Given the description of an element on the screen output the (x, y) to click on. 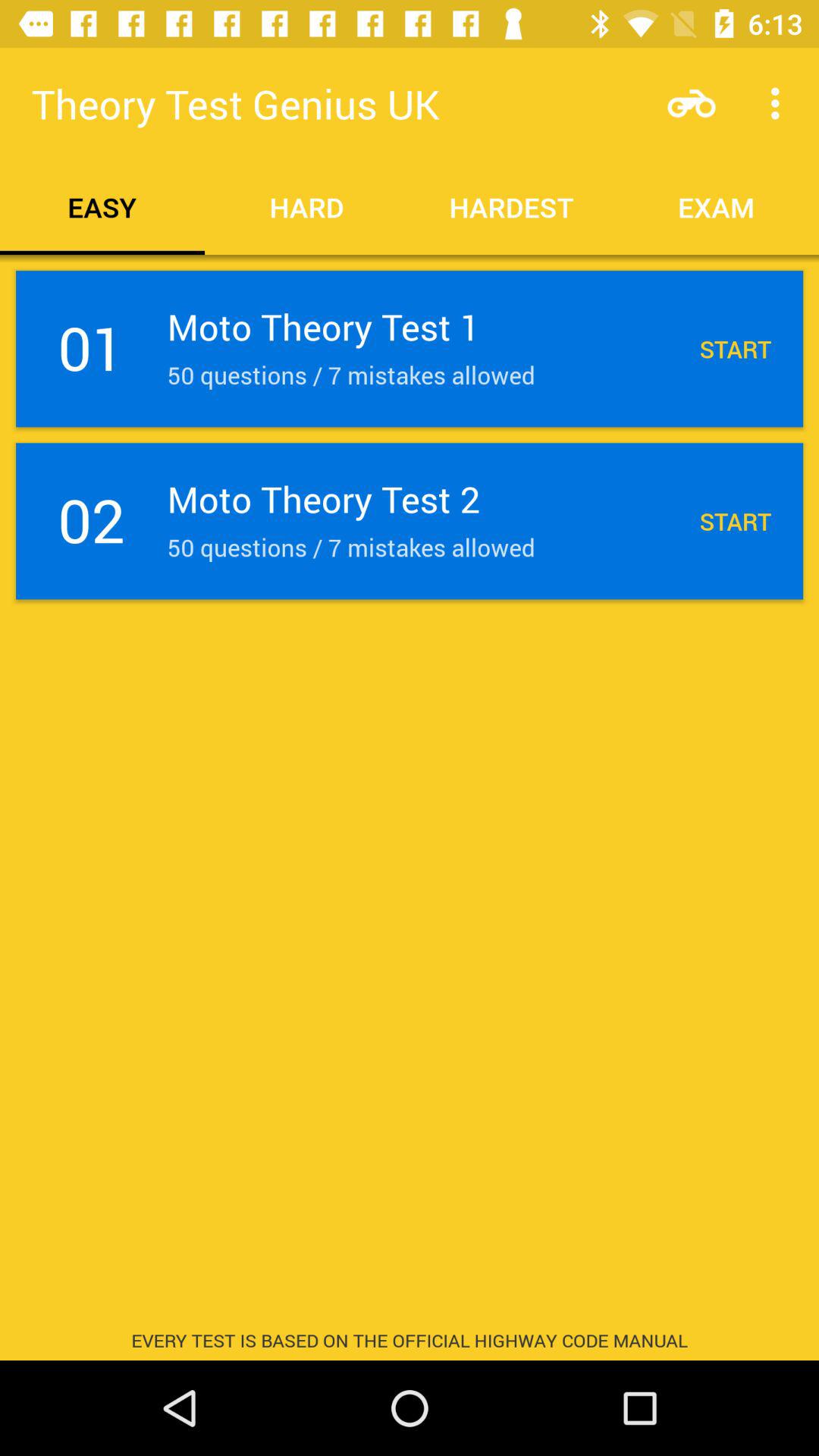
click item above exam icon (779, 103)
